Given the description of an element on the screen output the (x, y) to click on. 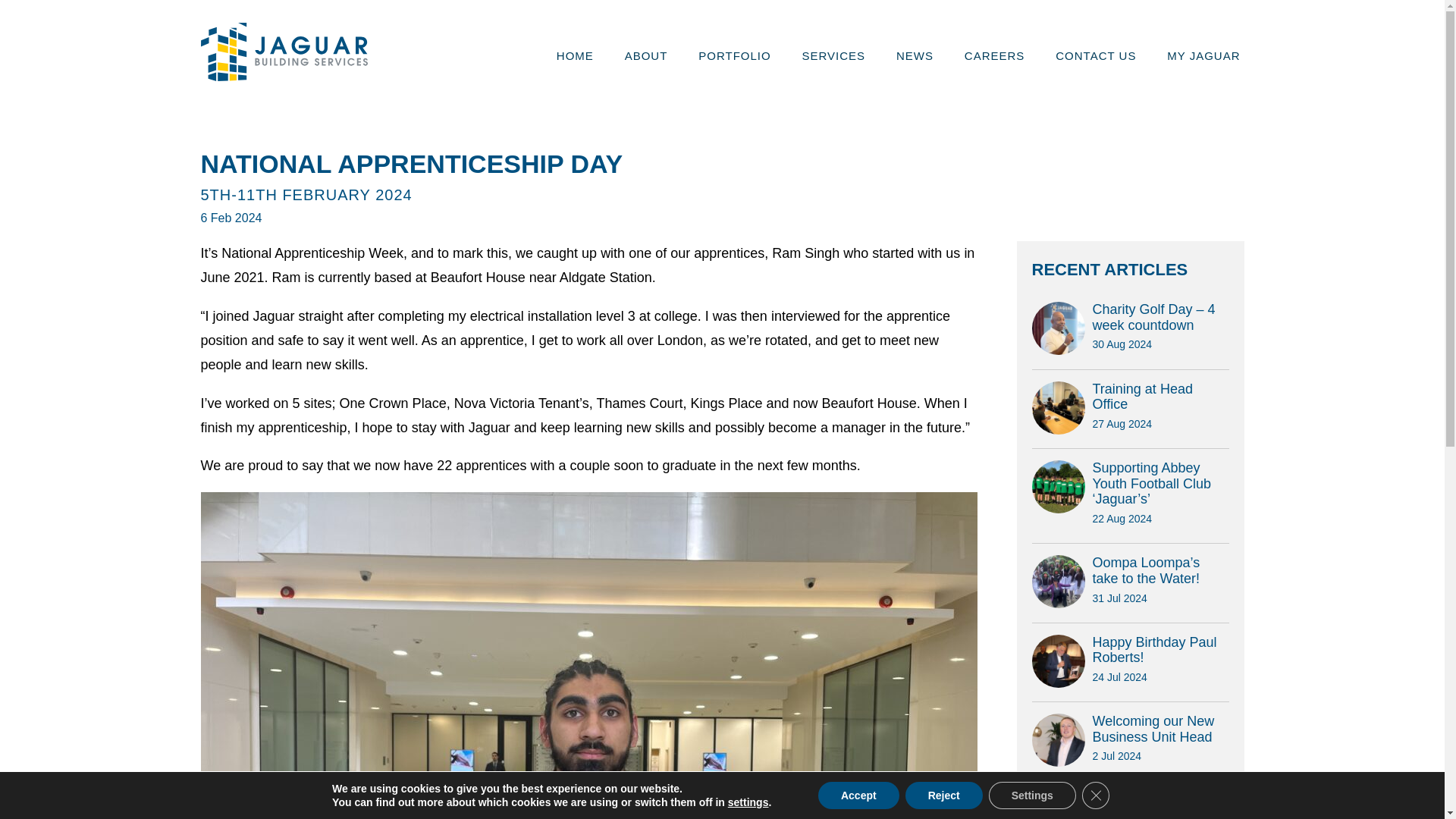
PORTFOLIO (1129, 747)
CONTACT US (734, 55)
HOME (1095, 55)
CAREERS (575, 55)
NEWS (994, 55)
SERVICES (914, 55)
